Given the description of an element on the screen output the (x, y) to click on. 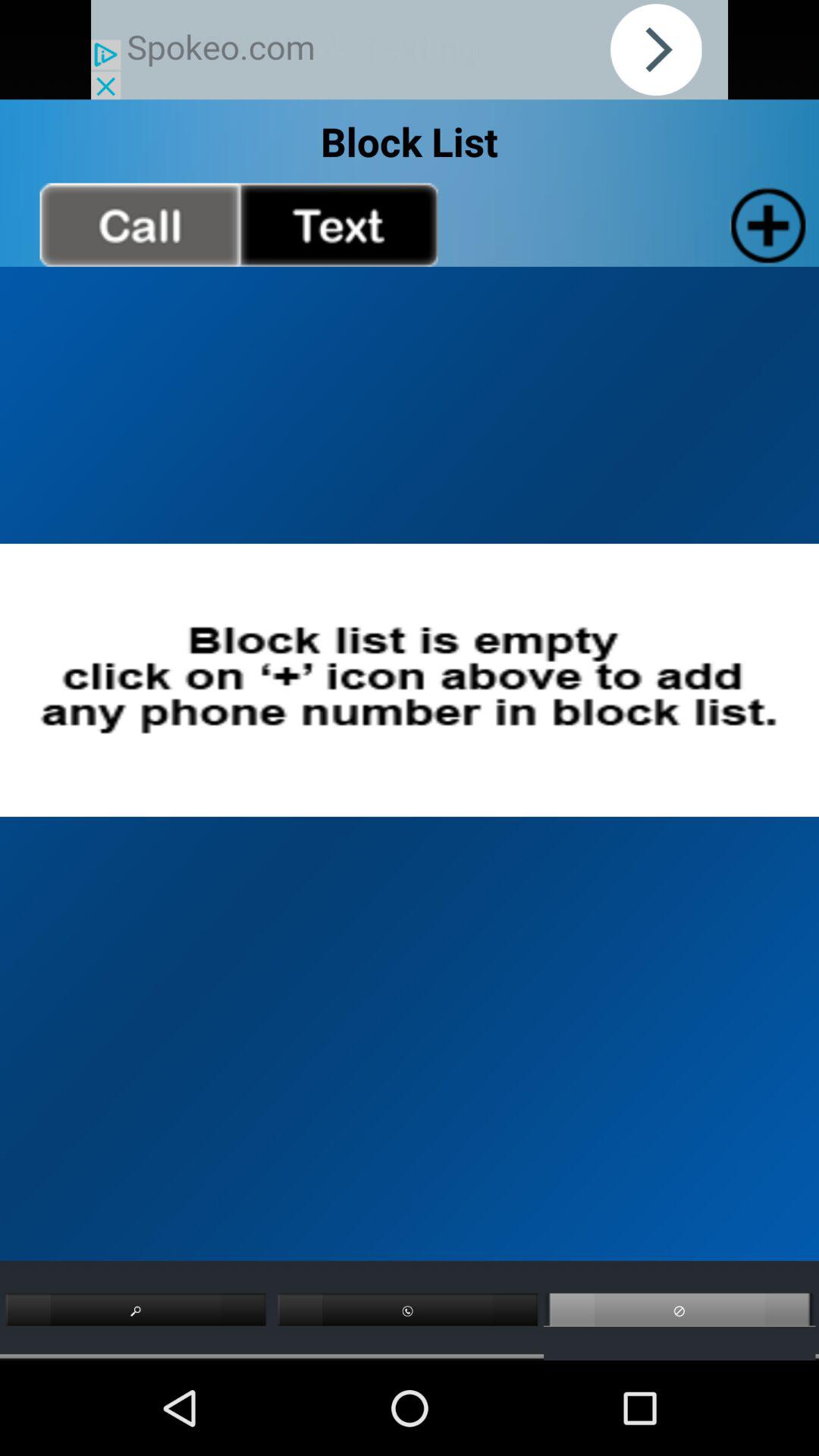
go to call (138, 224)
